Given the description of an element on the screen output the (x, y) to click on. 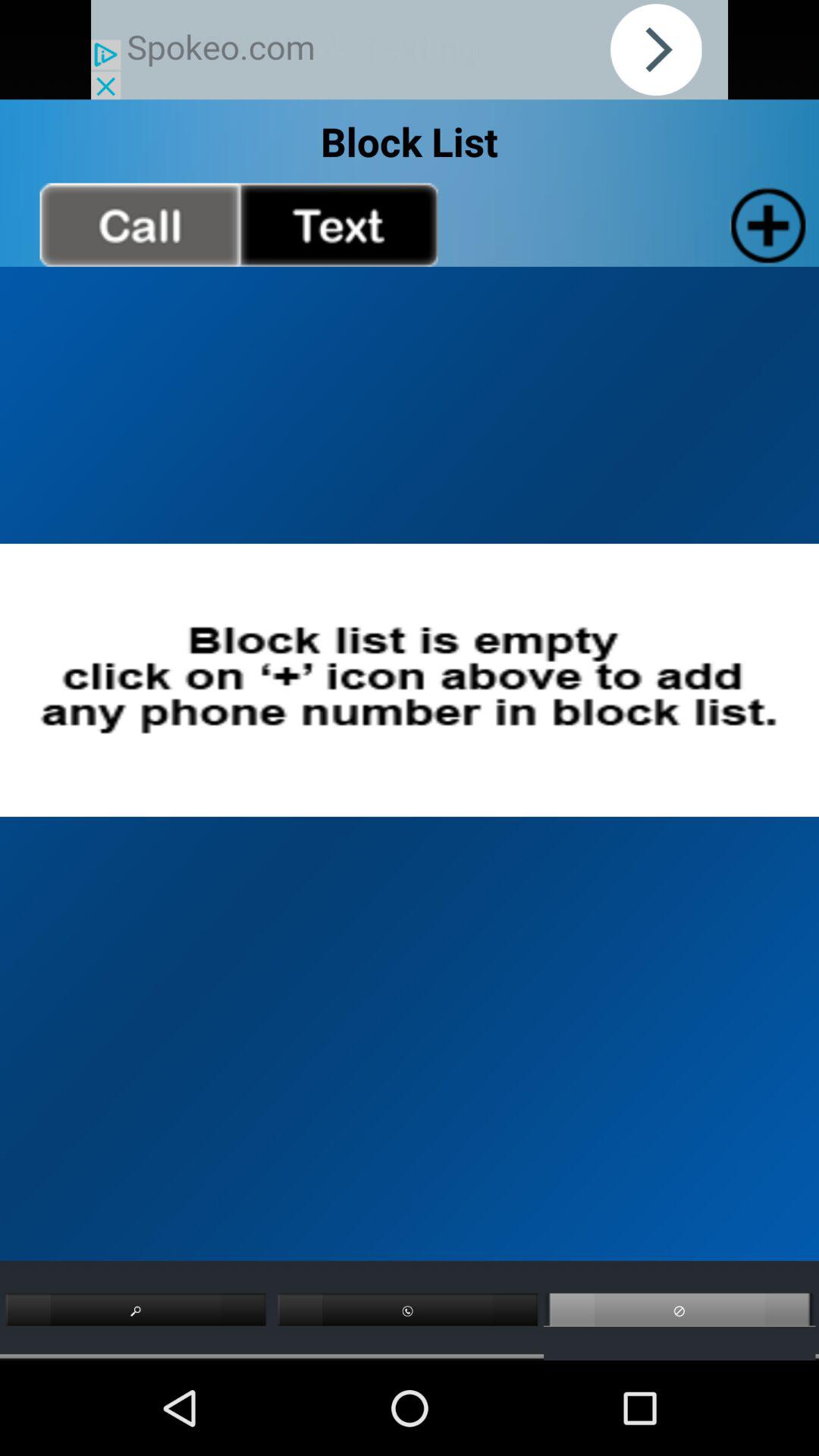
go to call (138, 224)
